Given the description of an element on the screen output the (x, y) to click on. 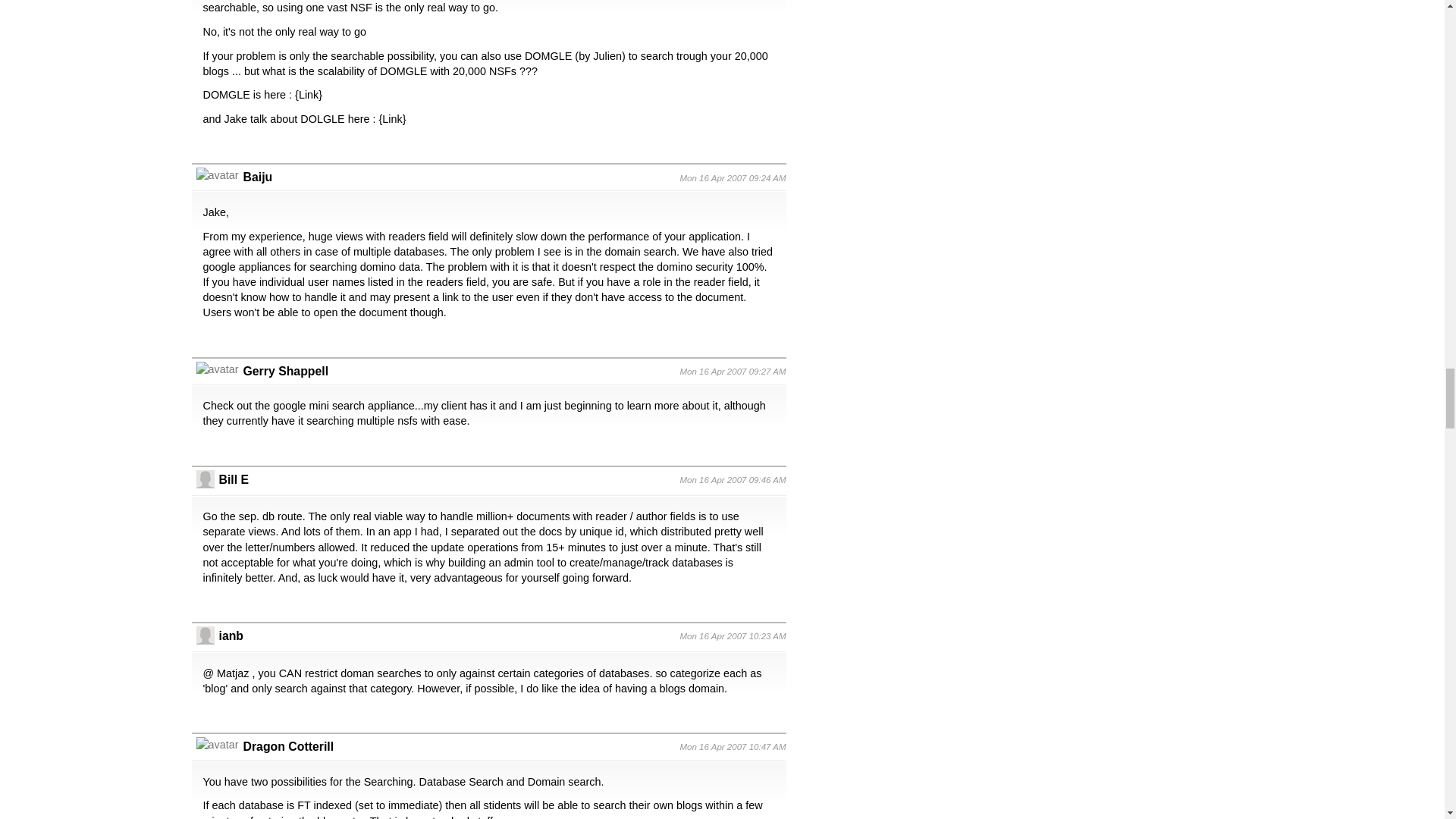
Gerry Shappell (286, 370)
Baiju (257, 176)
Dragon Cotterill (288, 746)
Click to Email (257, 176)
Link (308, 94)
Link (391, 119)
